Given the description of an element on the screen output the (x, y) to click on. 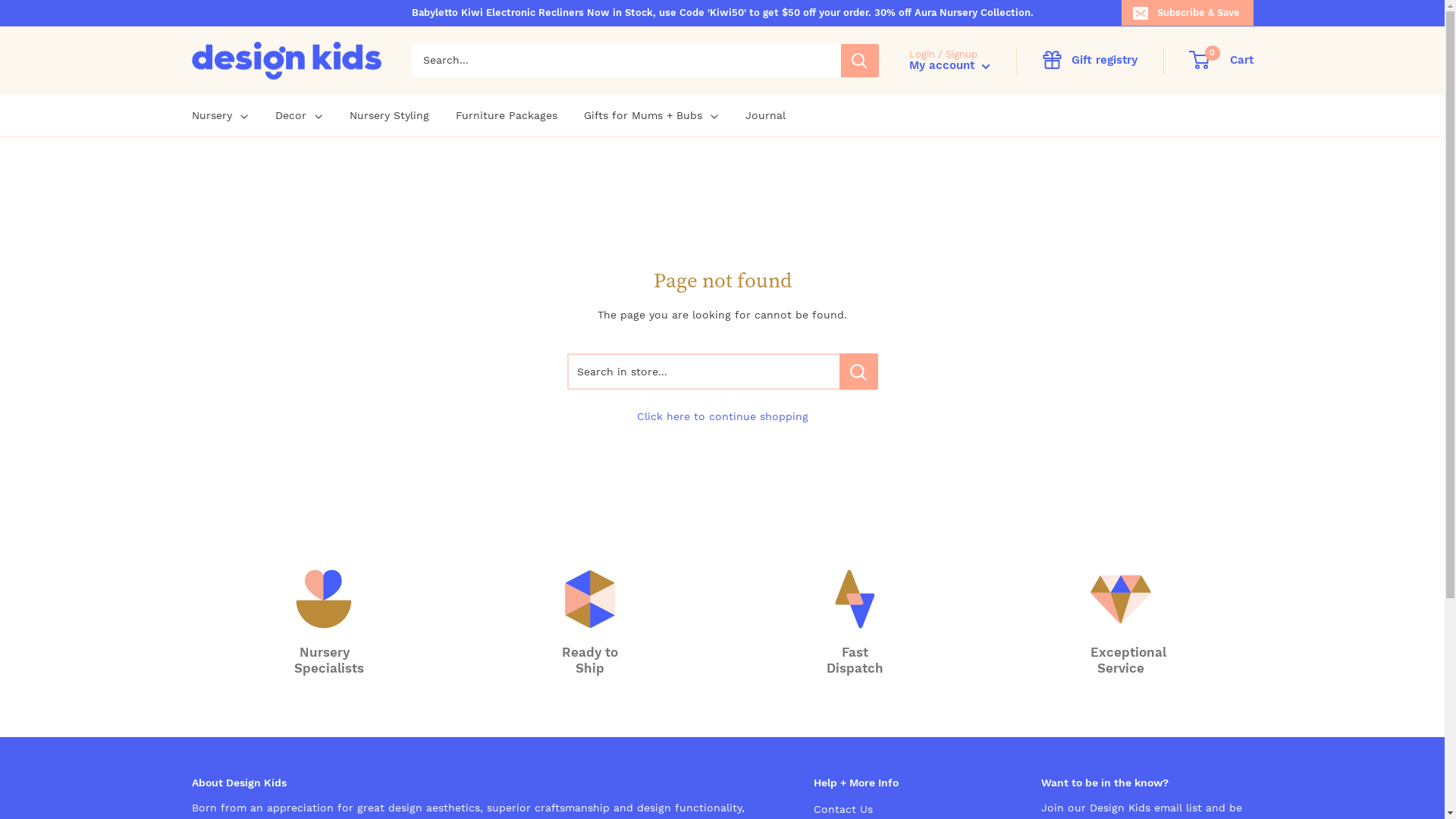
Gifts for Mums + Bubs Element type: text (650, 115)
Nursery Element type: text (219, 115)
Furniture Packages Element type: text (505, 115)
Click here to continue shopping Element type: text (722, 416)
About Design Kids Element type: text (475, 782)
0
Cart Element type: text (1221, 60)
Decor Element type: text (298, 115)
Journal Element type: text (764, 115)
Gift registry Element type: text (1090, 60)
My account Element type: text (948, 65)
Help + More Info Element type: text (899, 782)
Nursery Styling Element type: text (388, 115)
Subscribe & Save Element type: text (1186, 12)
